Given the description of an element on the screen output the (x, y) to click on. 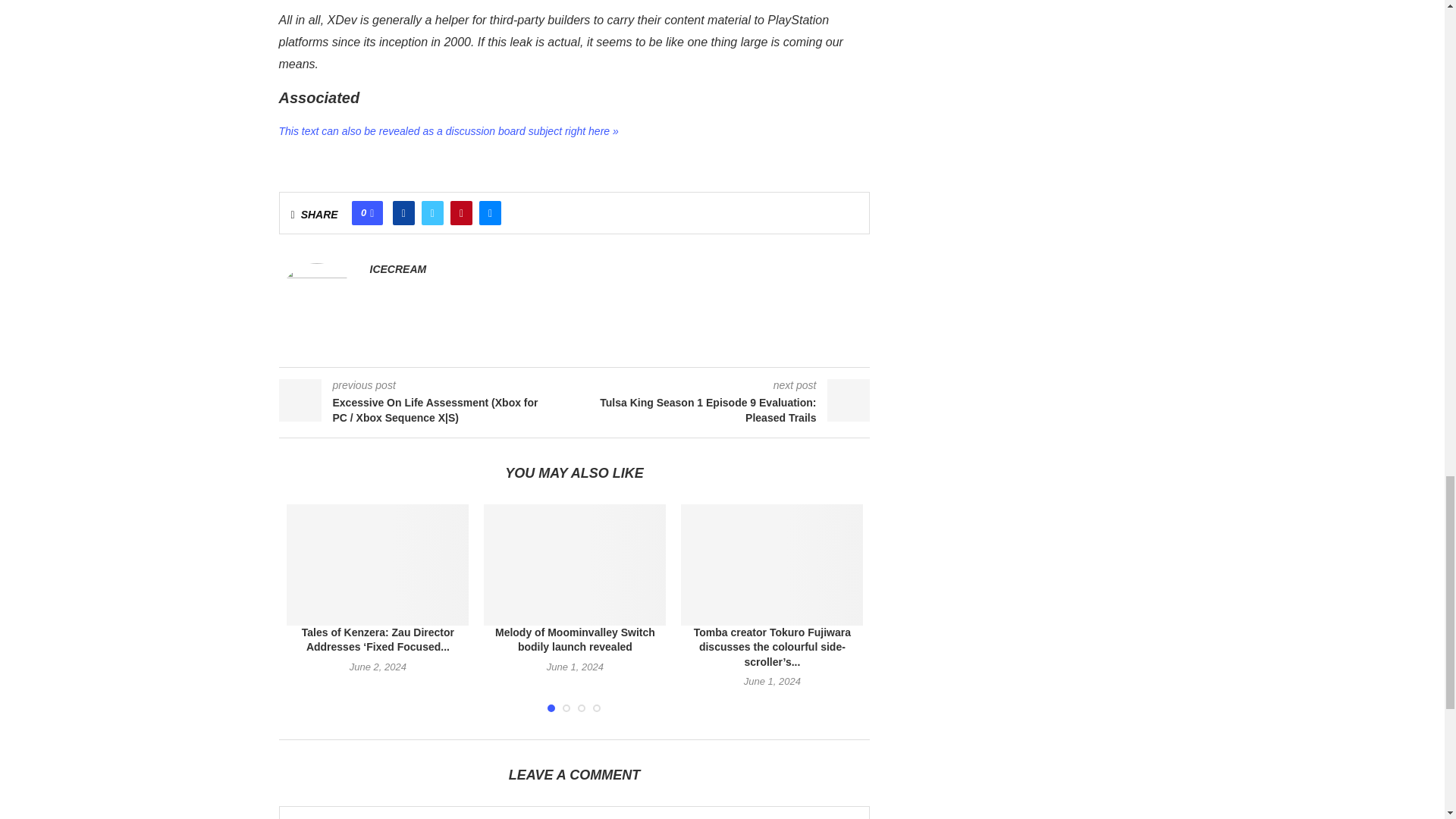
Author Icecream (397, 268)
Melody of Moominvalley Switch bodily launch revealed (574, 564)
